Given the description of an element on the screen output the (x, y) to click on. 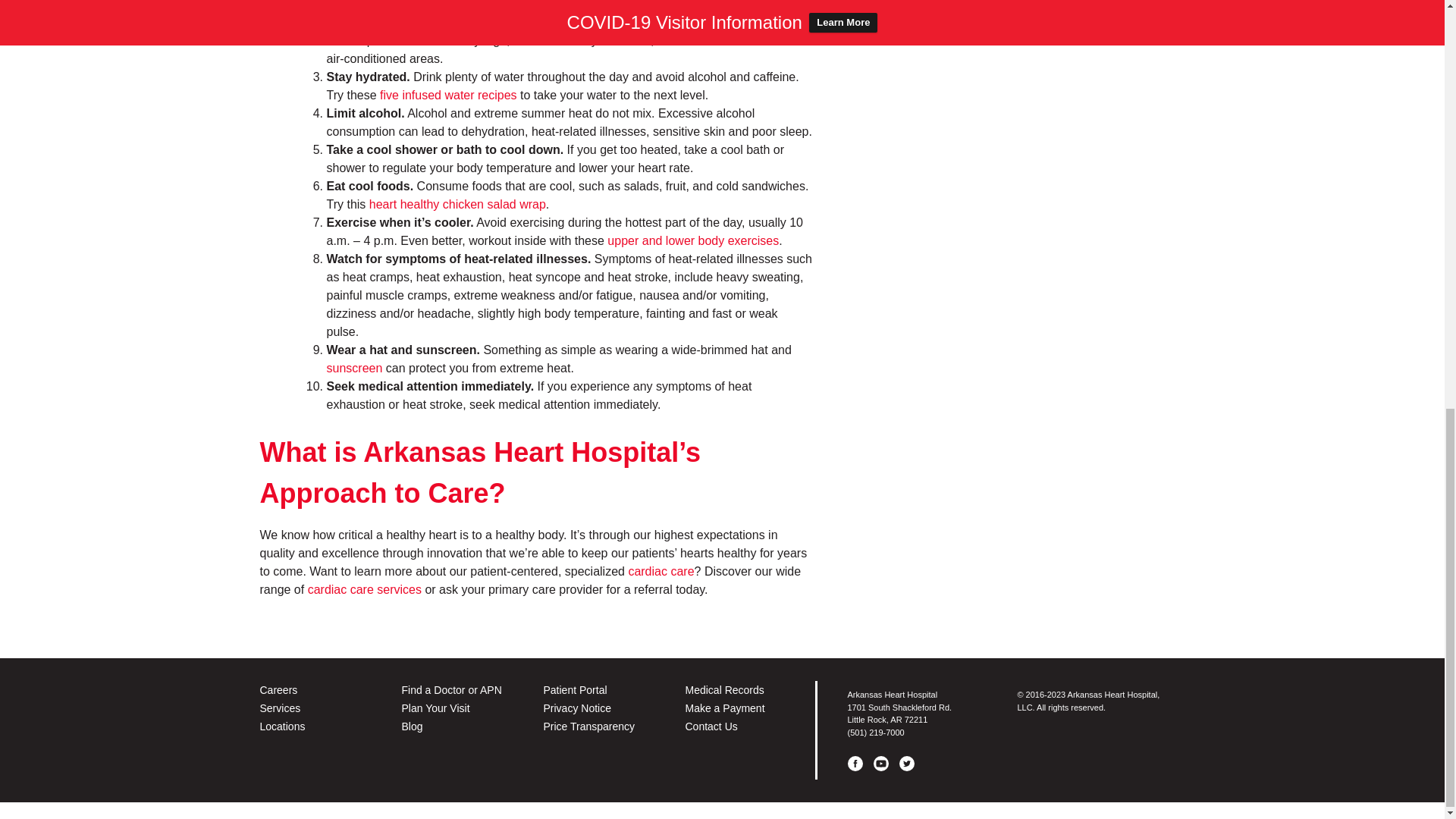
Twitter (906, 763)
Youtube (880, 763)
Facebook (855, 763)
